Given the description of an element on the screen output the (x, y) to click on. 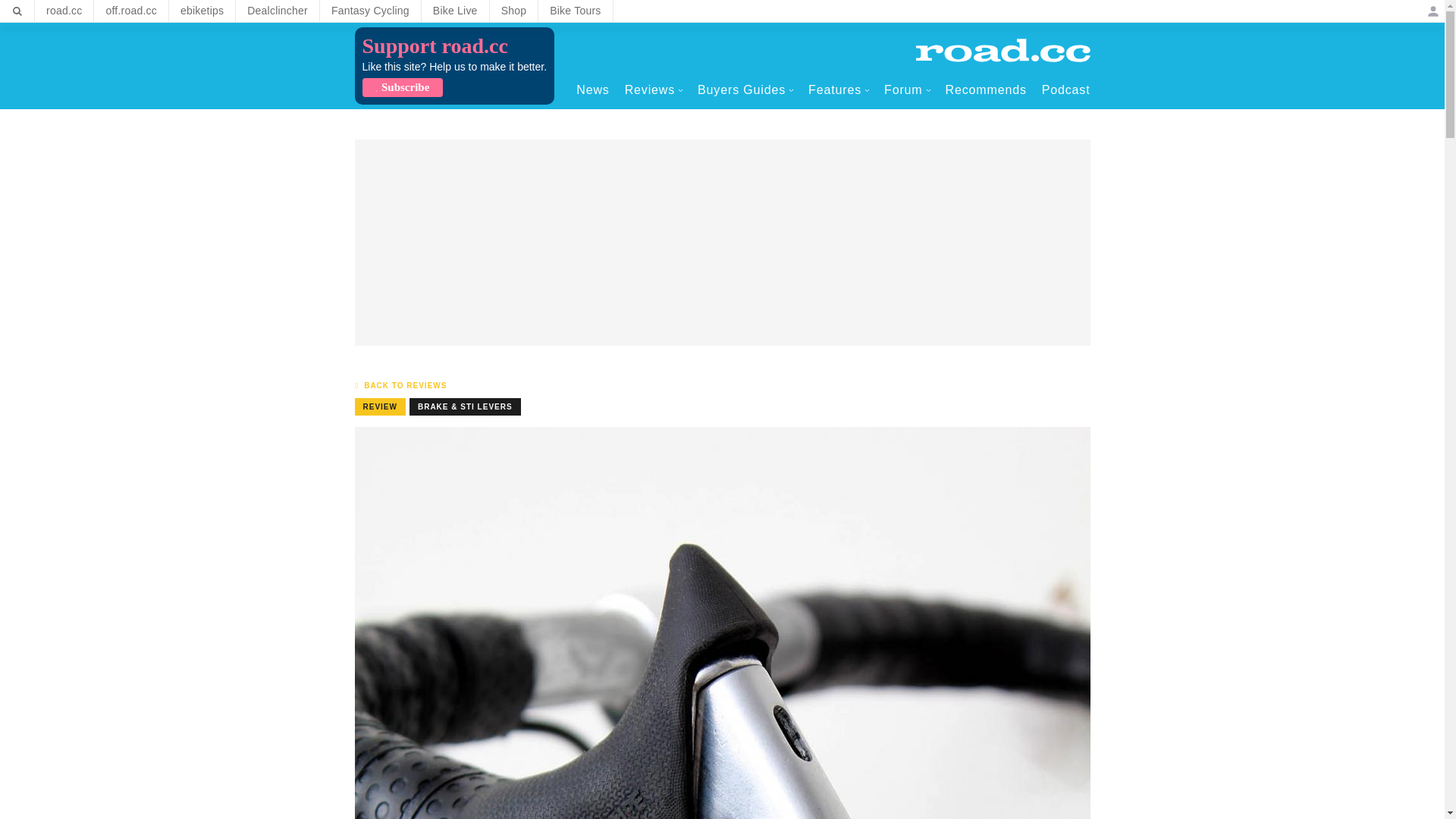
Dealclincher (276, 11)
Subscribe (402, 87)
Shop (513, 11)
Home (1002, 50)
Bike Tours (574, 11)
Reviews (653, 89)
road.cc (63, 11)
Fantasy Cycling (370, 11)
ebiketips (201, 11)
off.road.cc (131, 11)
Bike Live (455, 11)
